Given the description of an element on the screen output the (x, y) to click on. 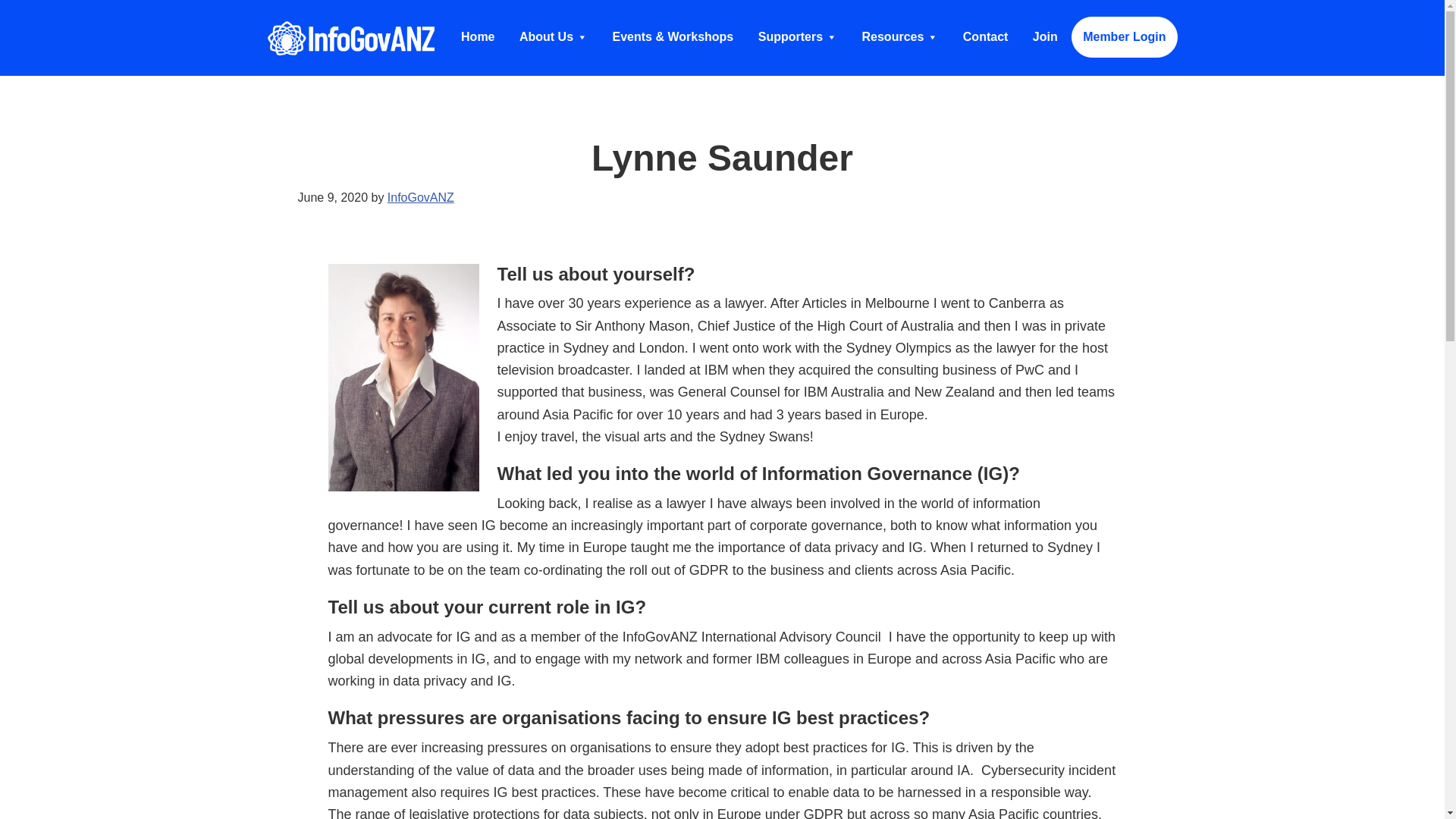
Resources (900, 36)
About Us (553, 36)
Supporters (797, 36)
Home (477, 36)
InfoGovANZ (349, 37)
